Given the description of an element on the screen output the (x, y) to click on. 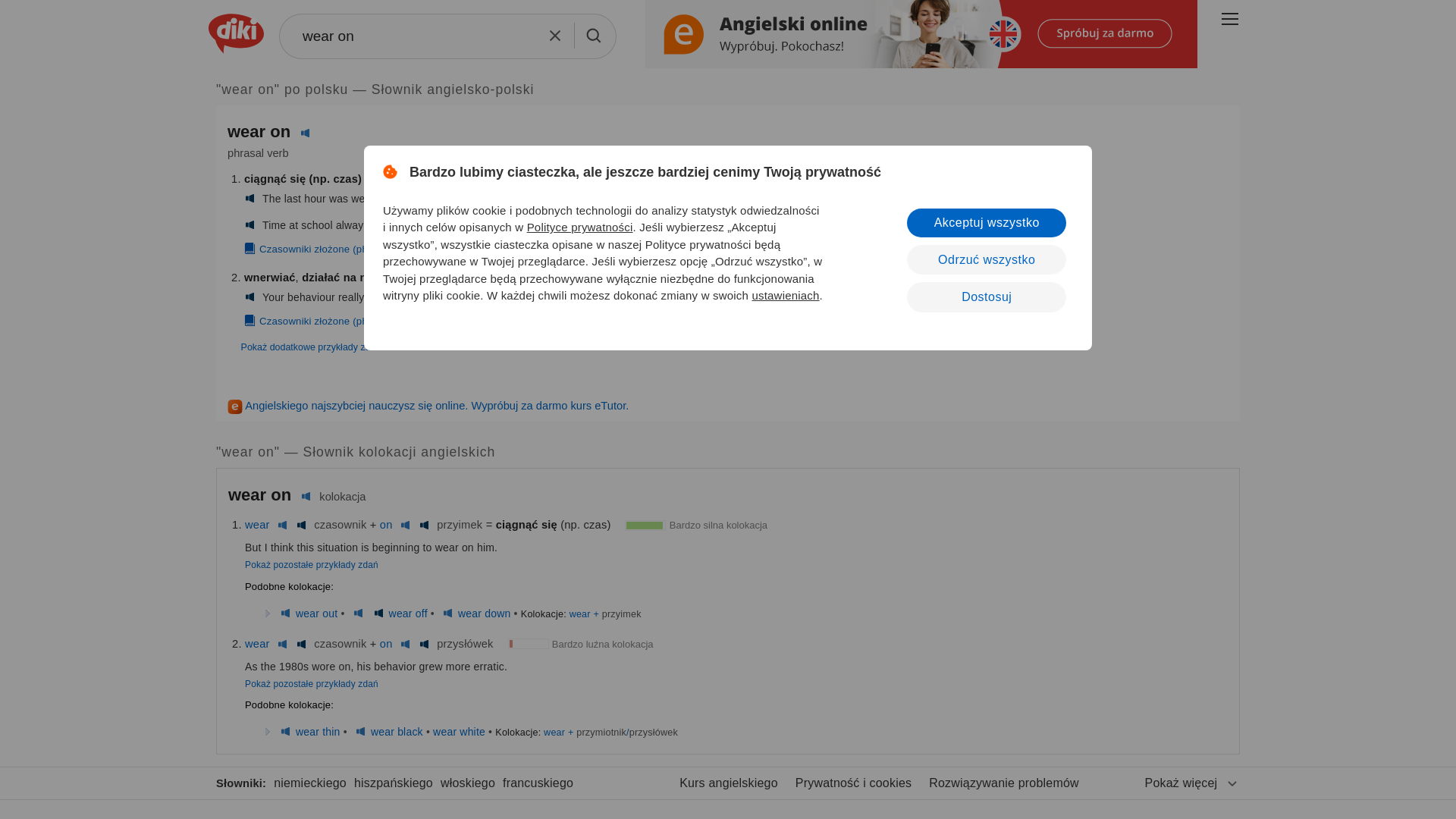
wear (256, 524)
on (386, 524)
British English (305, 133)
British English (357, 613)
British English (282, 524)
wear on (447, 35)
British English (285, 613)
American English (250, 297)
American English (250, 198)
American English (250, 224)
